Given the description of an element on the screen output the (x, y) to click on. 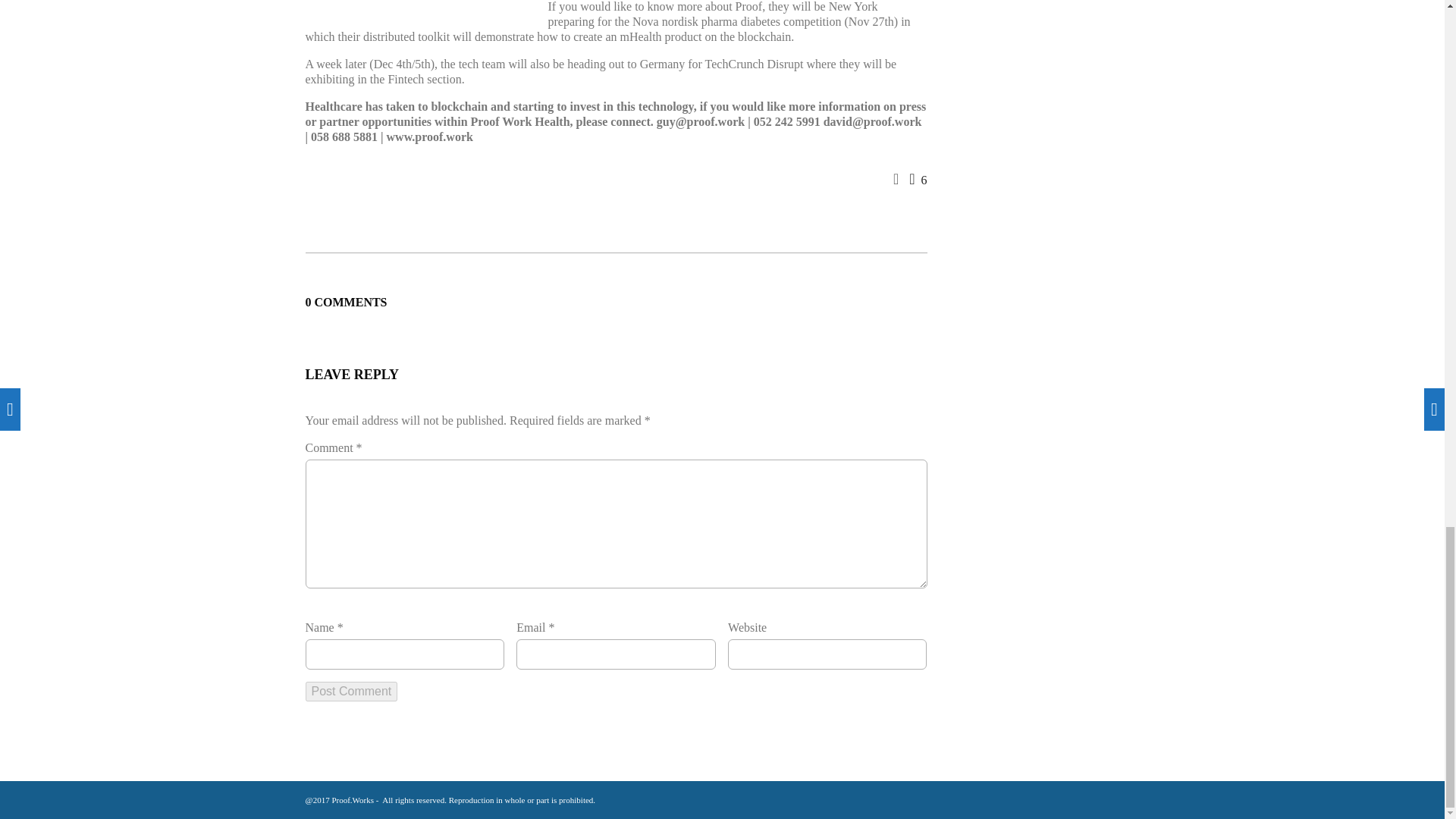
Post Comment (350, 691)
 6 (917, 179)
Post Comment (350, 691)
